Given the description of an element on the screen output the (x, y) to click on. 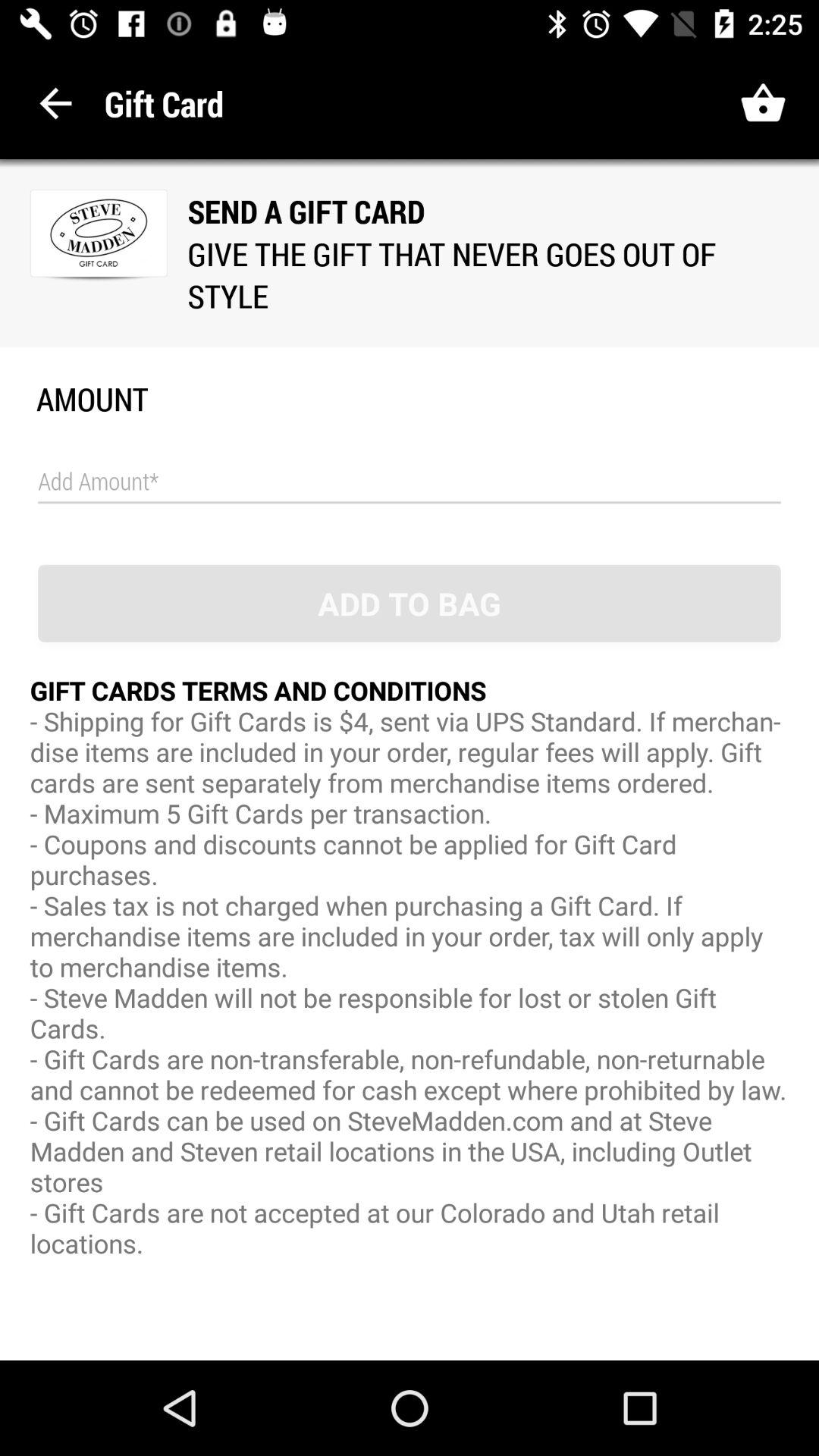
because back devicer (409, 482)
